Given the description of an element on the screen output the (x, y) to click on. 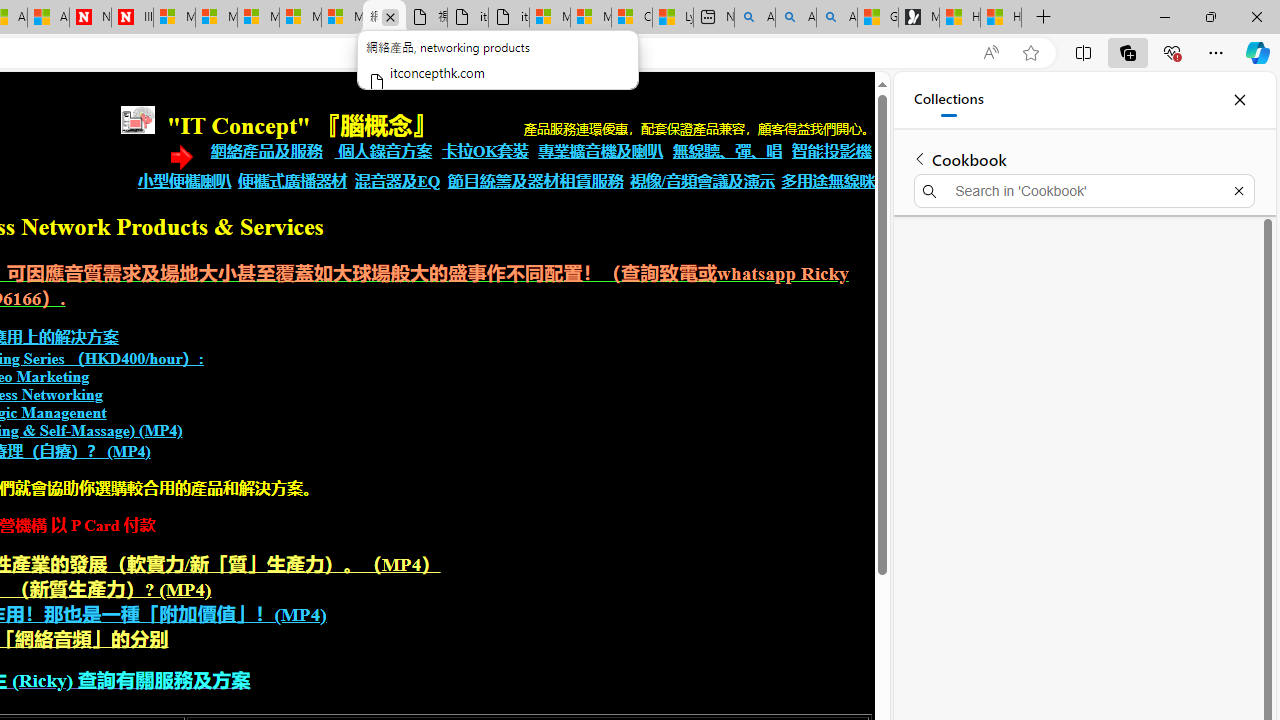
itconcepthk.com/projector_solutions.mp4 (508, 17)
